Given the description of an element on the screen output the (x, y) to click on. 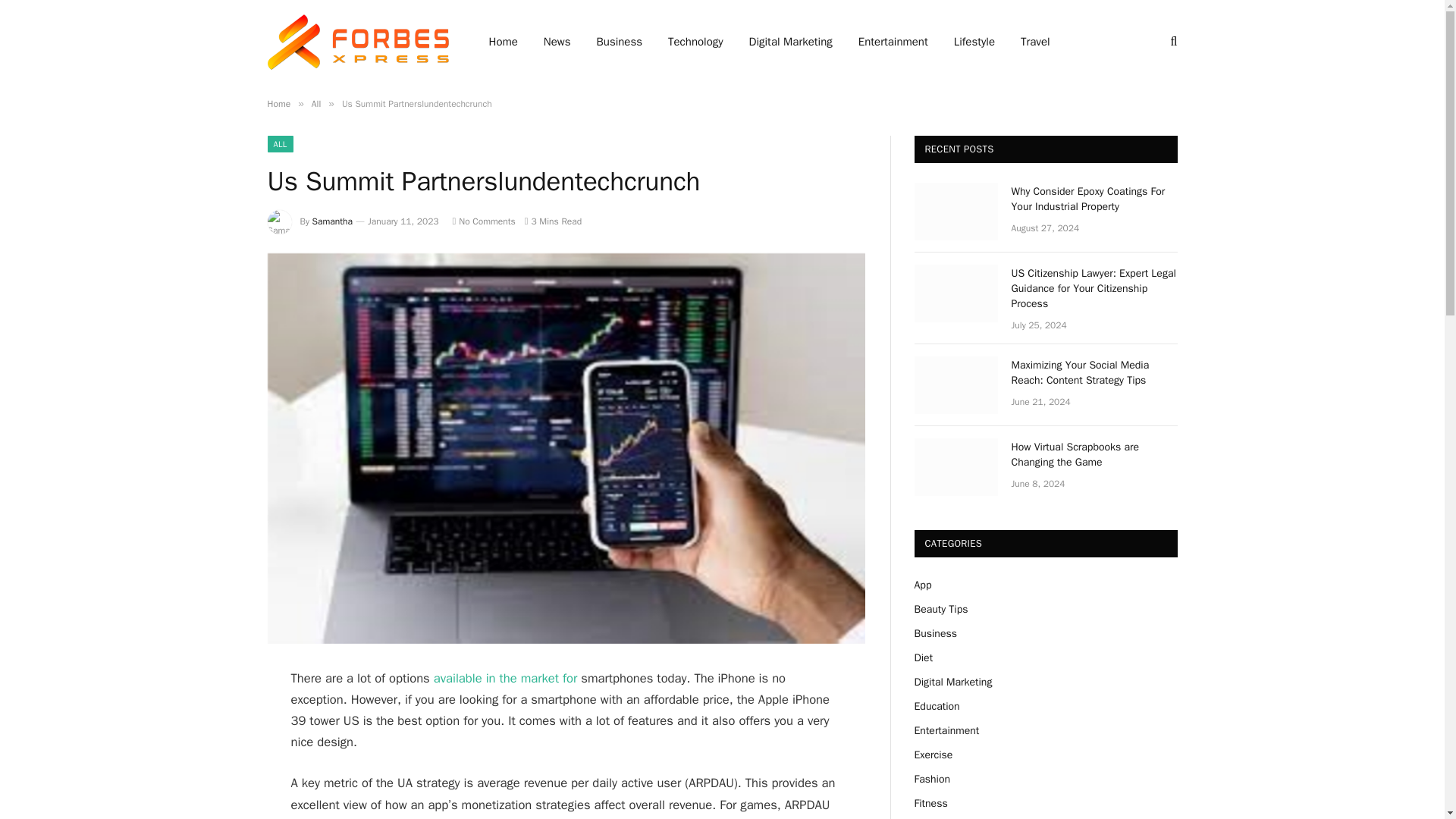
App (922, 584)
Diet (923, 657)
Digital Marketing (790, 41)
Why Consider Epoxy Coatings For Your Industrial Property (1094, 199)
Samantha (332, 221)
Posts by Samantha (332, 221)
available in the market for (505, 678)
No Comments (483, 221)
